Given the description of an element on the screen output the (x, y) to click on. 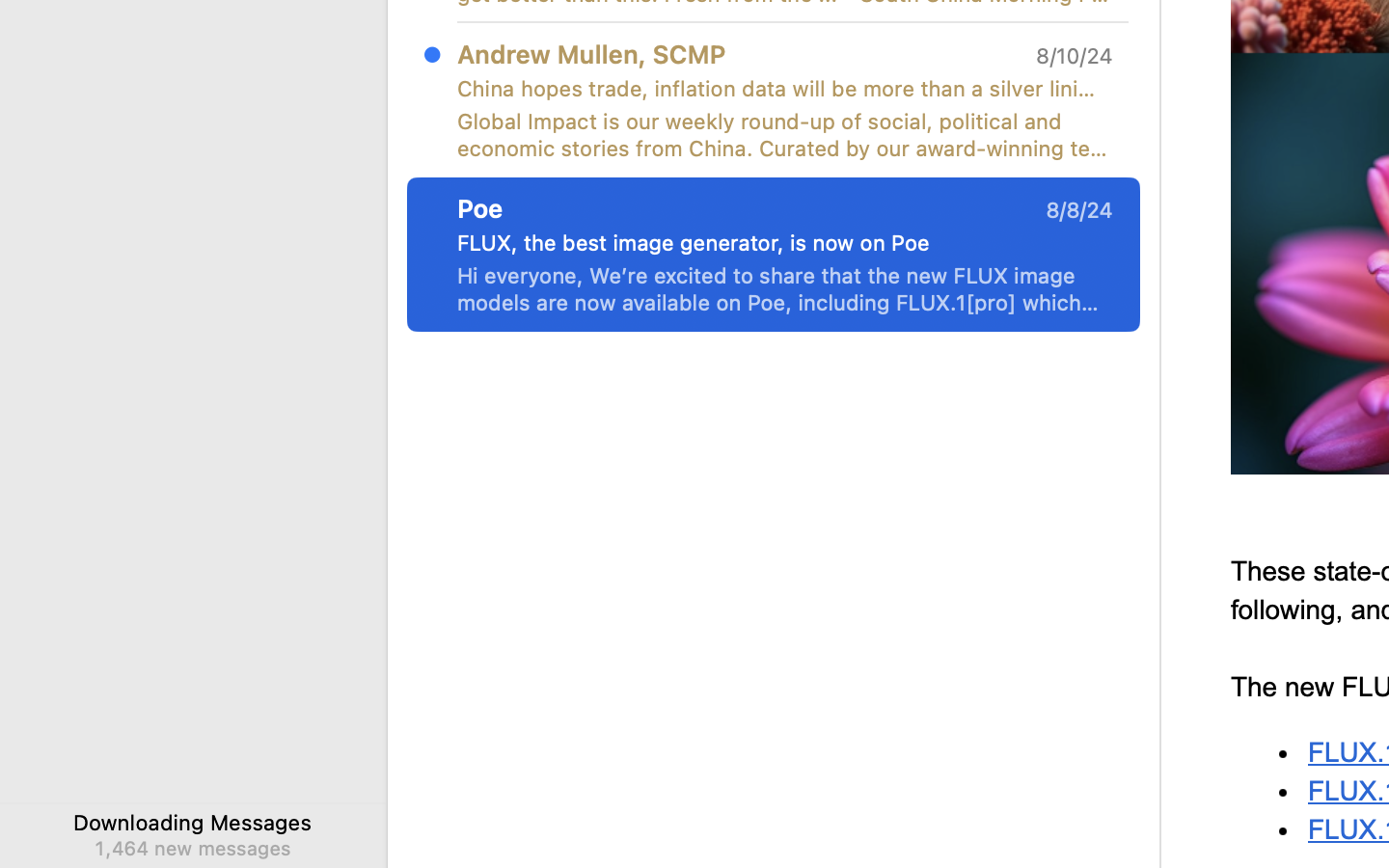
1,464 new messages Element type: AXStaticText (191, 847)
China hopes trade, inflation data will be more than a silver lining as stock market crash sends reminder of external headwinds Element type: AXStaticText (777, 88)
Poe Element type: AXStaticText (480, 207)
Hi everyone, We’re excited to share that the new FLUX image models are now available on Poe, including FLUX.1[pro] which sets new standards in image generation. These state-of-the-art FLUX.1 models push the limits of AI image generation and set new standards in picture quality, prompt following, and in-image text, producing stunning visuals with impressive detail quickly. The new FLUX.1 models are available for you to try at the following links: FLUX.1[pro]: Flagship model offering peak performance FLUX.1[dev]: Balances image quality and efficiency FLUX.1[schnell]: Optimized for speed We’ve also made the FLUX models available as base bots for you to build your own custom prompt and server bots. We appreciate your feedback and encourage you to continue sharing your thoughts at feedback@poe.com. You can stay updated on the latest updates and announcements by following us on X and joining our Discord server. Thanks, The Poe Team Our goal is to offer you valuable product updates. You can u Element type: AXStaticText (784, 289)
Global Impact is our weekly round-up of social, political and economic stories from China. Curated by our award-winning team of ... - South China Morning Post, SCMP, Global Impact - Global Impact is our weekly round-up of social, political and economic stories from China. Curated by our award-winning team of ... This newsletter is now only available to our digital subscribers. Subscribe to a 1-year plan with a 25% discount for the first year to continue to receive this newsletter along with unlimited access to SCMP.com. Was this newsletter forwarded to you? Sign up here China politics & diplomacy Too early for China to celebrate positive trade, inflation data as global stock market volatilities raise red flag Andrew Mullen Deputy Editor, Political Economy 10 August 2024 Global Impact is our weekly round-up of social, political and economic stories from China. Curated by our award-winning team of journalists, this must-read newsletter explores the impact and significance of those storie Element type: AXStaticText (784, 135)
